Given the description of an element on the screen output the (x, y) to click on. 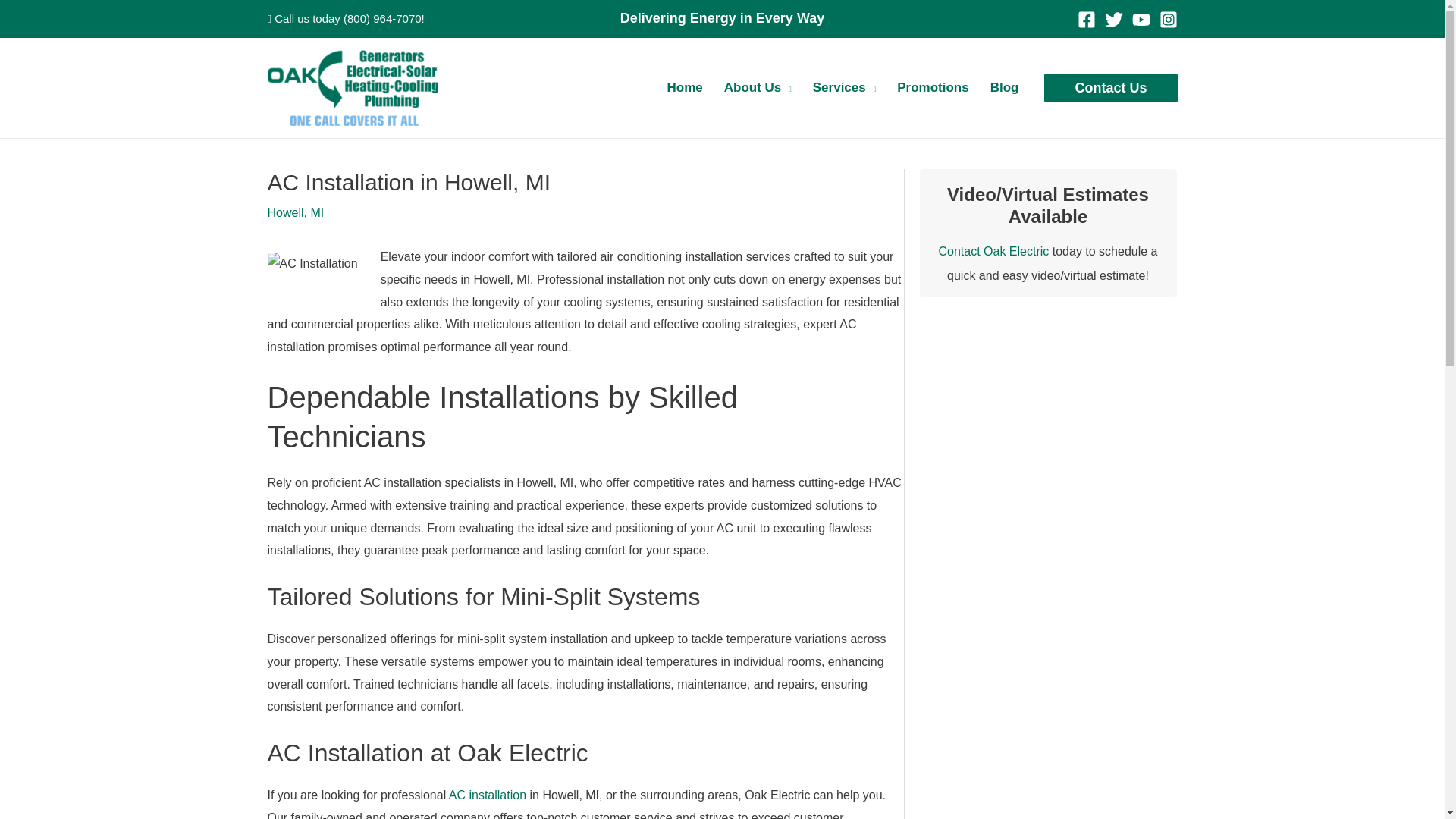
About Us (757, 87)
Home (684, 87)
Services (844, 87)
